Given the description of an element on the screen output the (x, y) to click on. 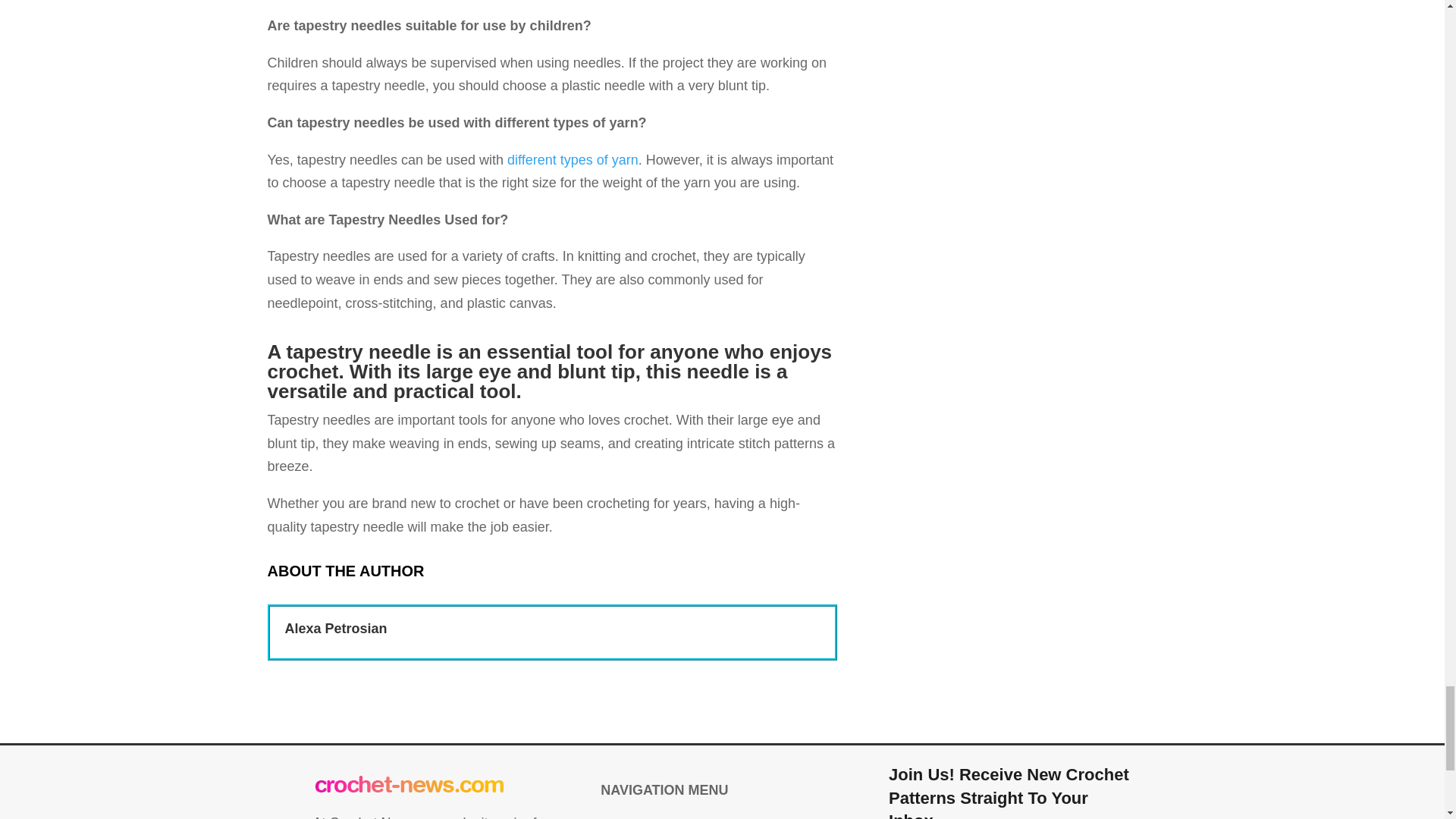
different types of yarn (572, 159)
crochet-news (409, 786)
